Given the description of an element on the screen output the (x, y) to click on. 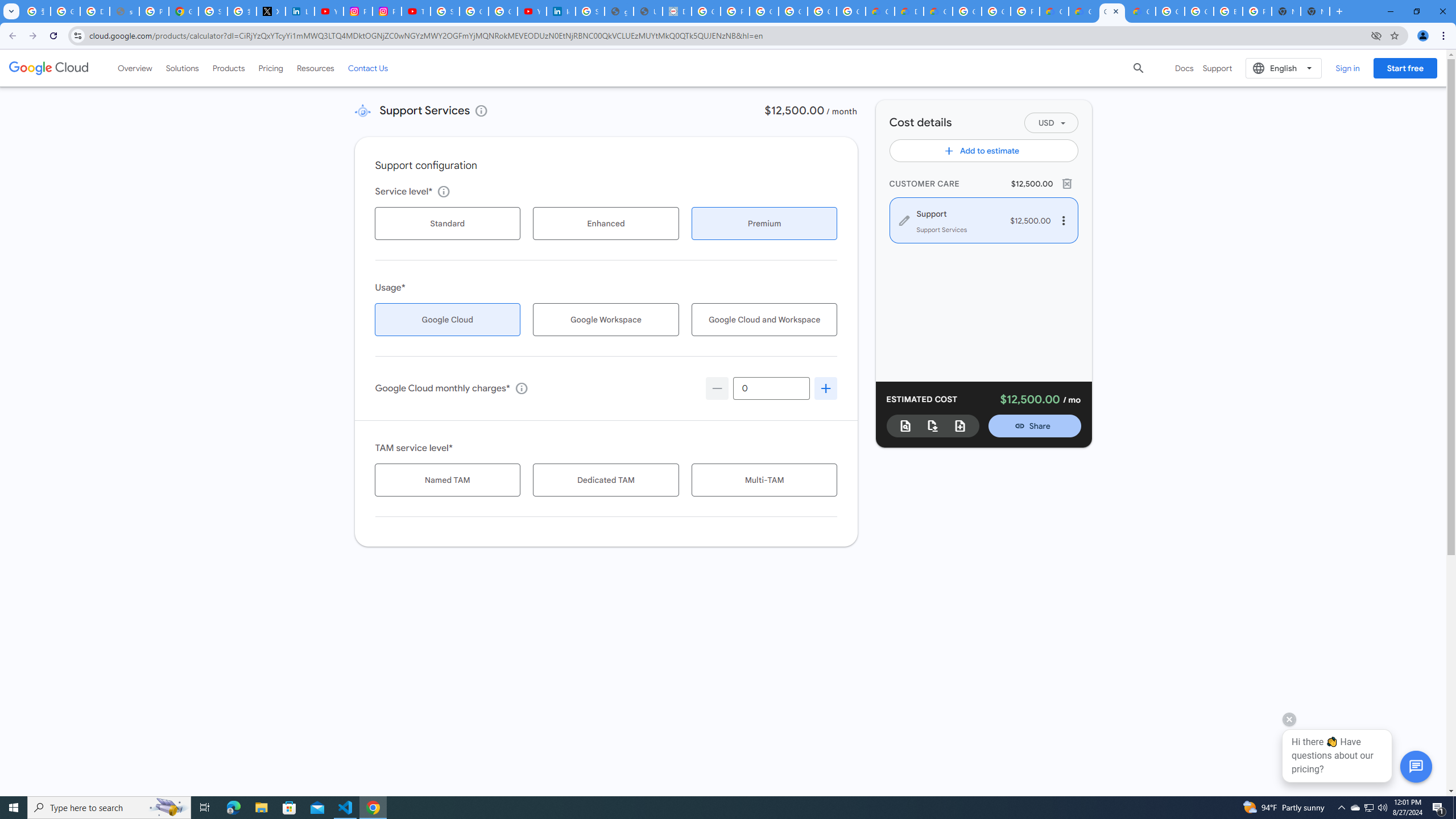
Support (1216, 67)
Decrement (716, 387)
Open detailed view (905, 425)
Button to activate chat (1416, 766)
Google Workspace - Specific Terms (850, 11)
Contact Us (368, 67)
Open currency selector (1050, 122)
View details (481, 110)
Download estimate as .csv (932, 425)
